Given the description of an element on the screen output the (x, y) to click on. 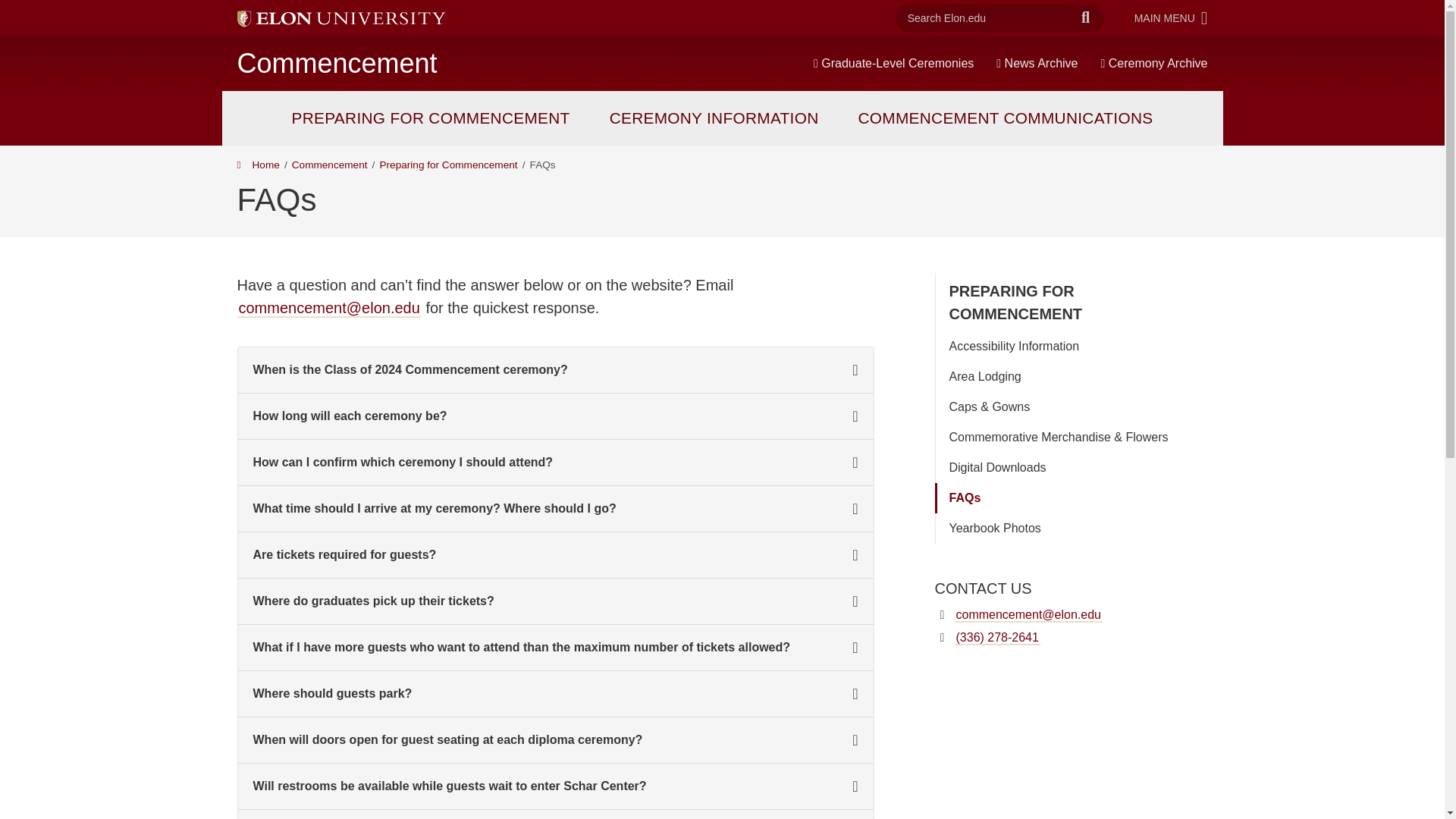
Submit Search (1085, 17)
Graduate-Level Ceremonies (1171, 18)
Ceremony Archive (893, 63)
News Archive (1153, 63)
PREPARING FOR COMMENCEMENT (1037, 63)
